Given the description of an element on the screen output the (x, y) to click on. 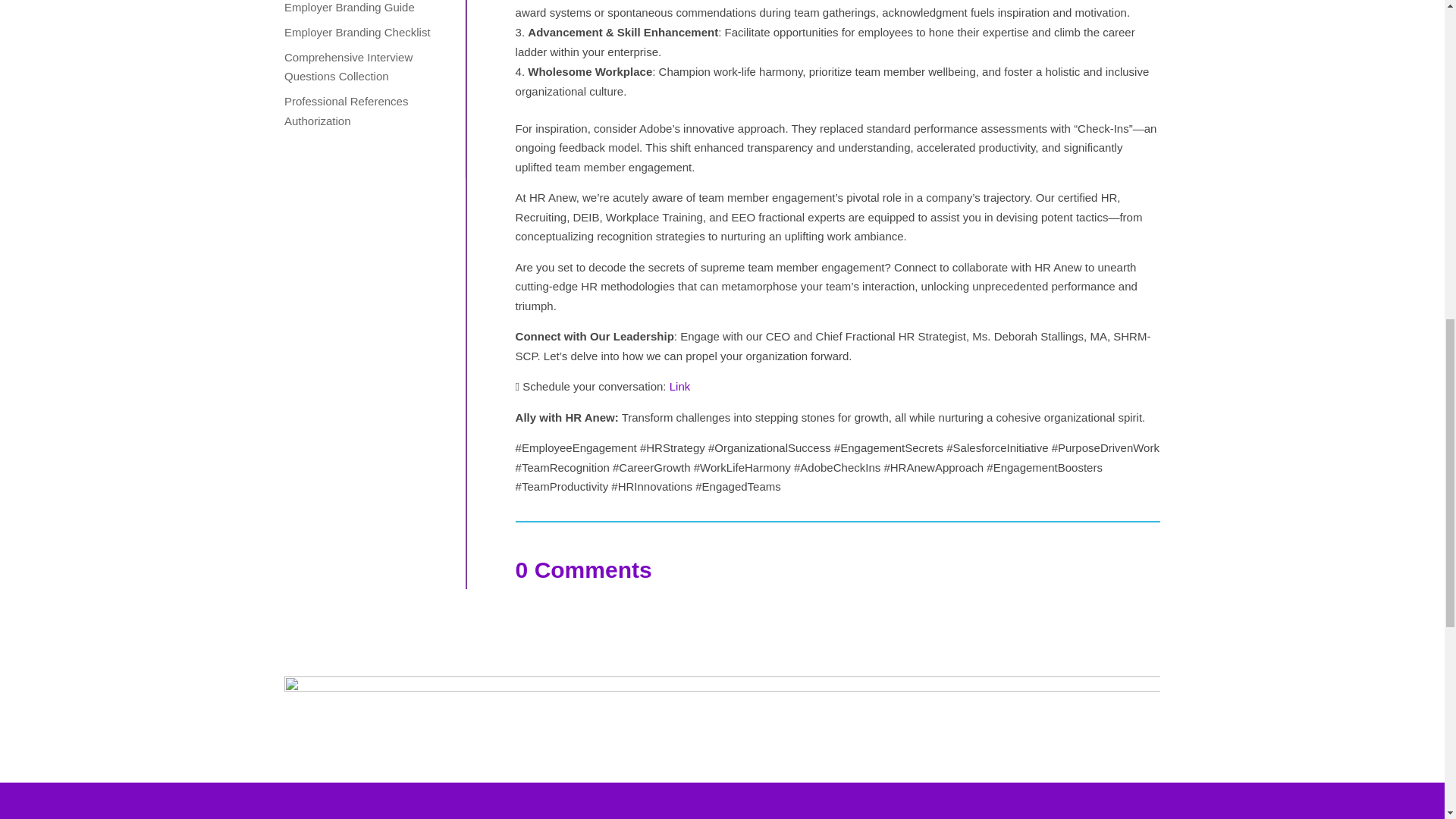
Employer Branding Guide (348, 6)
HR Anew Logos (721, 718)
Comprehensive Interview Questions Collection (347, 66)
Employer Branding Checklist (356, 31)
Professional References Authorization (345, 111)
Link (679, 386)
